Given the description of an element on the screen output the (x, y) to click on. 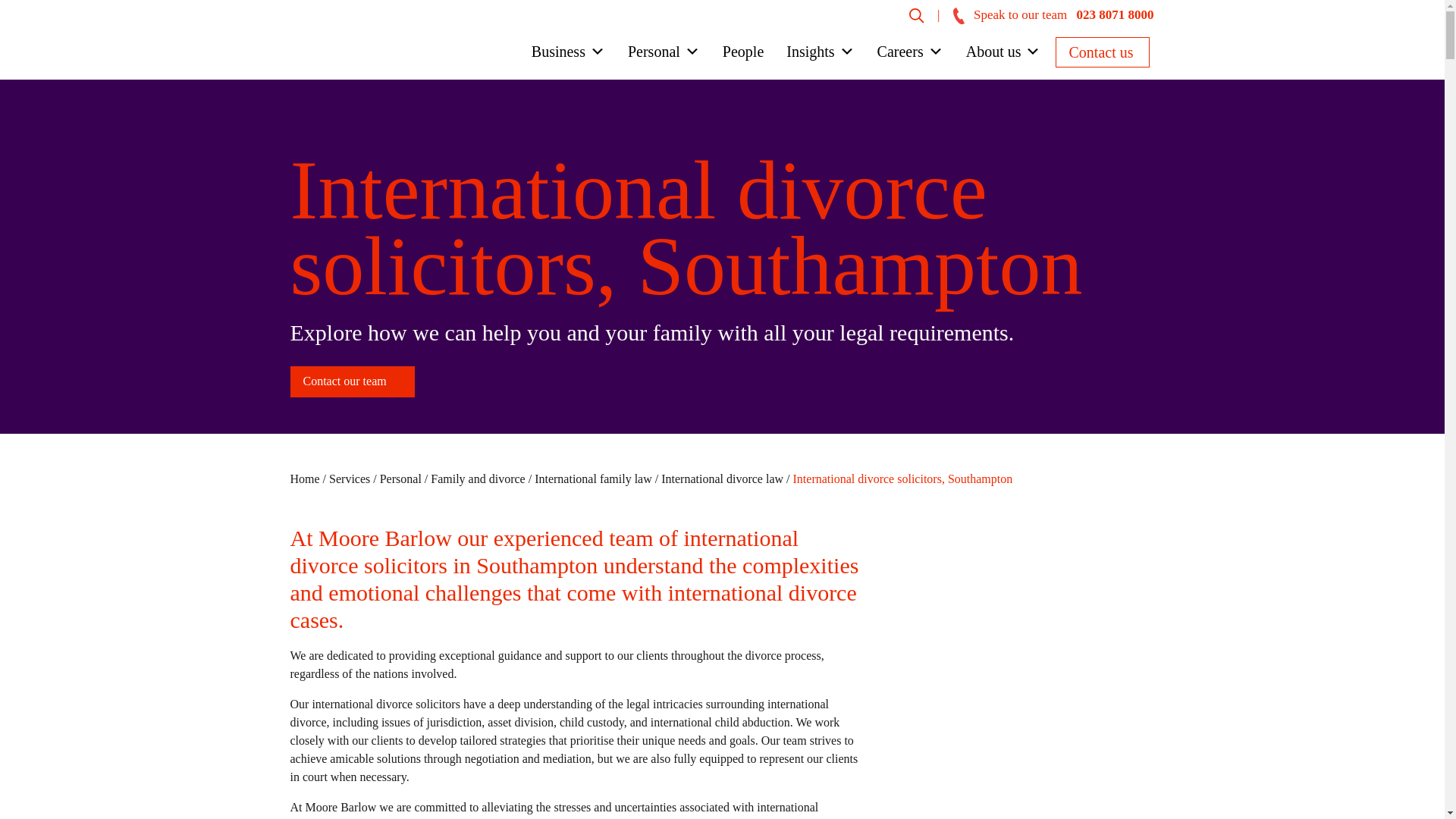
Search Moore Barlow (916, 14)
Speak to our team 023 8071 8000 (1053, 14)
Business (568, 55)
